Given the description of an element on the screen output the (x, y) to click on. 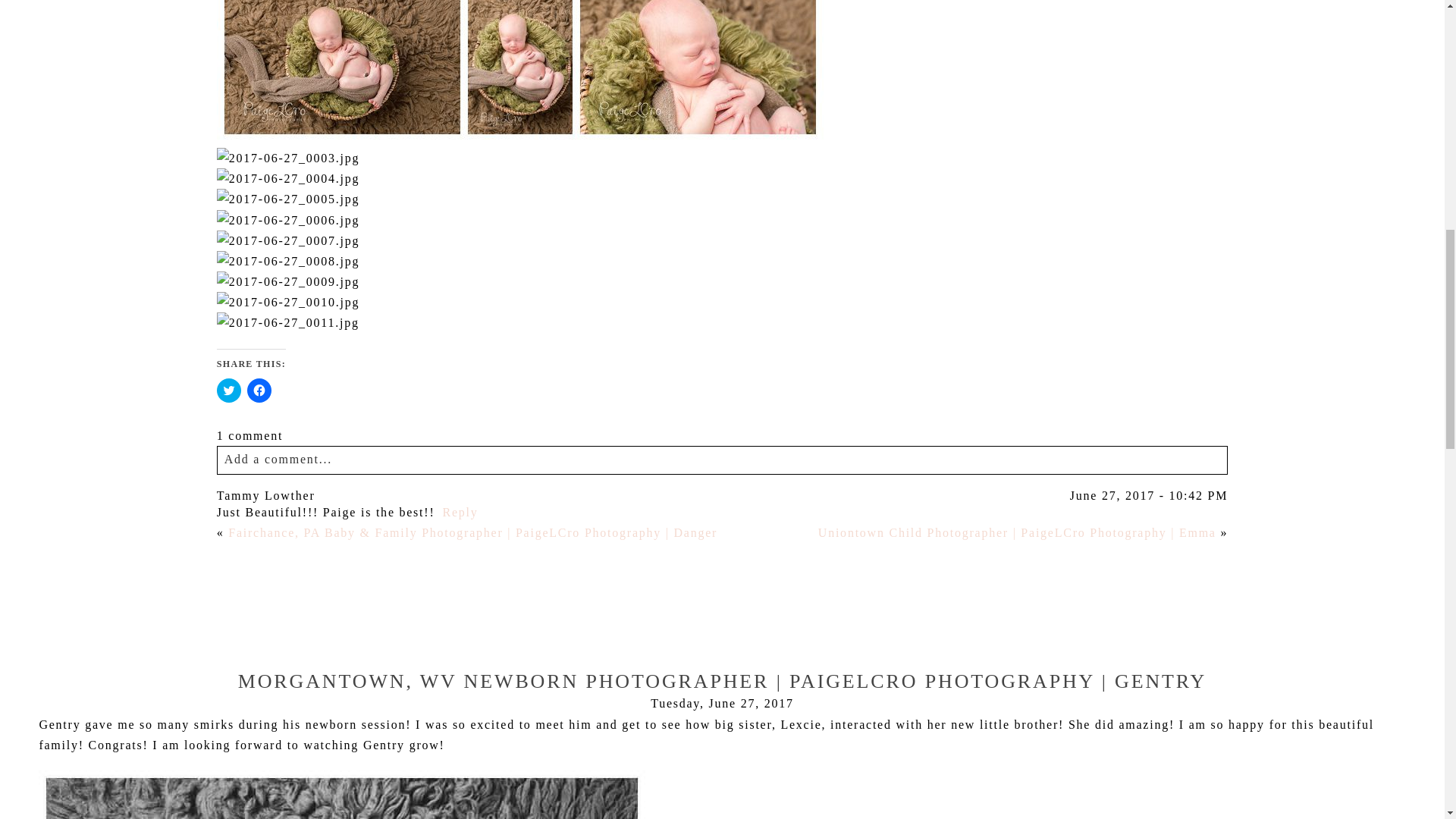
Reply (460, 512)
Click to share on Facebook (258, 390)
Click to share on Twitter (228, 390)
